Given the description of an element on the screen output the (x, y) to click on. 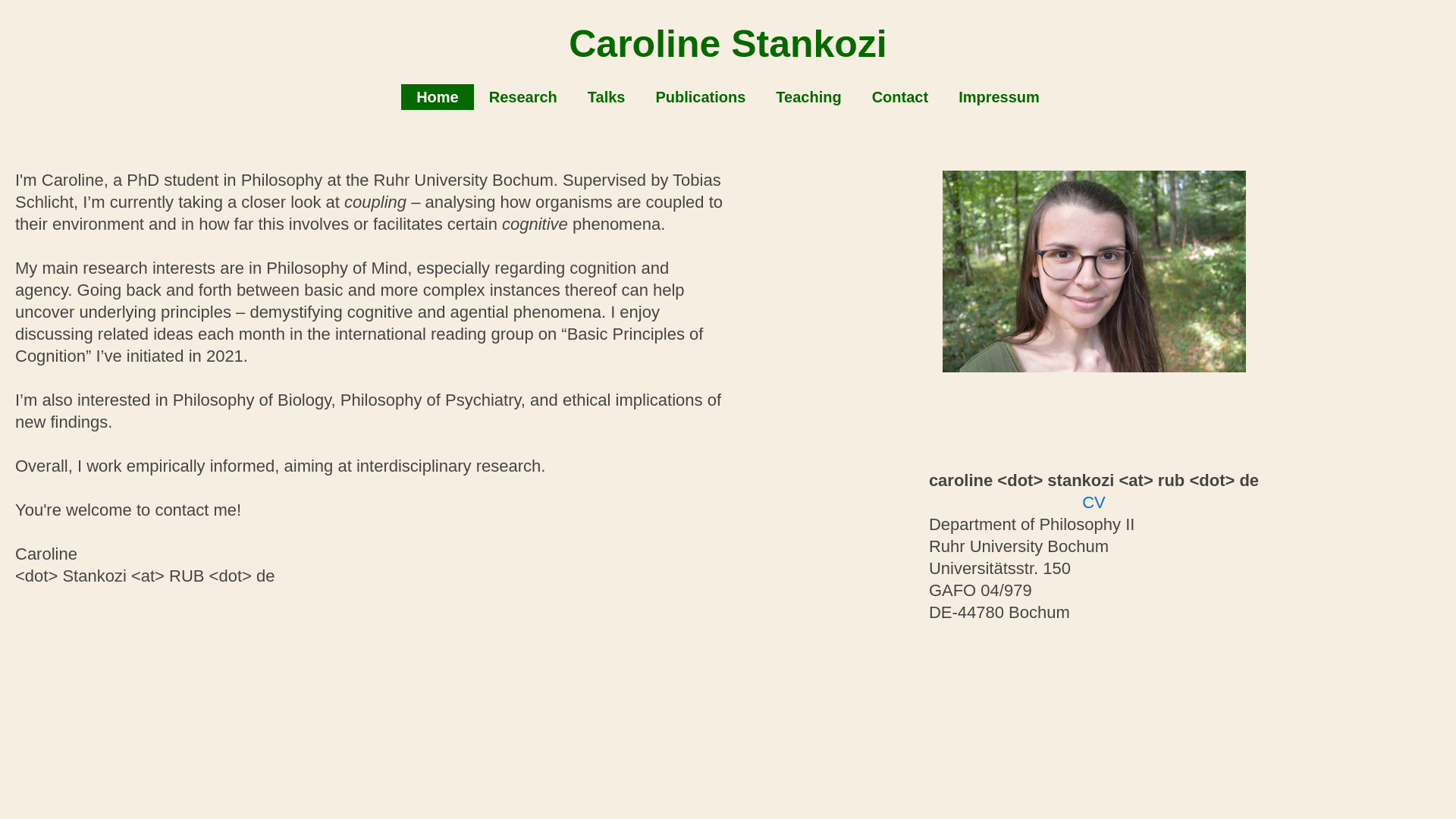
Research (523, 96)
Contact (900, 96)
Talks (606, 96)
CV (1093, 502)
Publications (700, 96)
Impressum (998, 96)
Teaching (808, 96)
Home (437, 96)
